Given the description of an element on the screen output the (x, y) to click on. 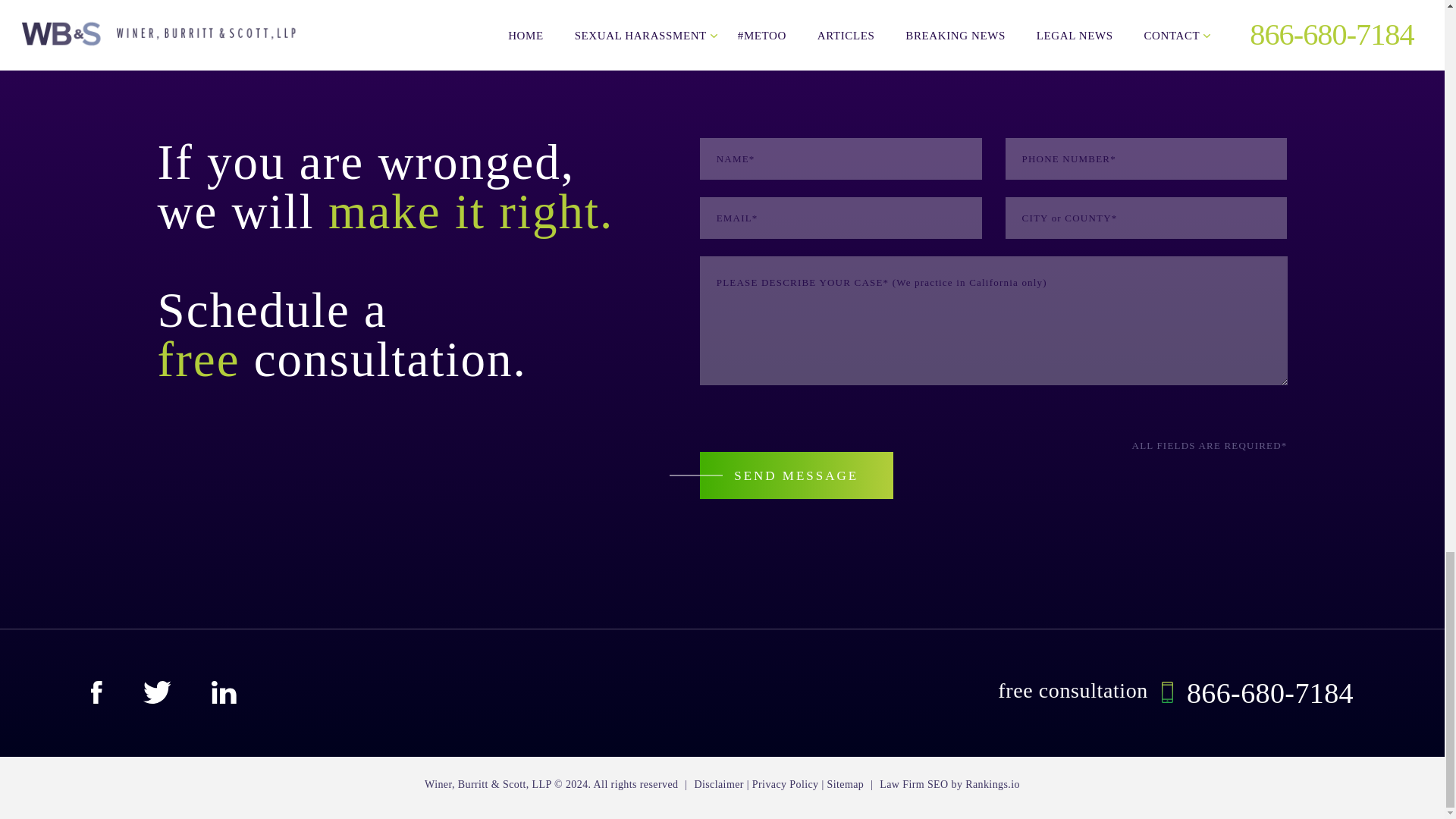
SEND MESSAGE (796, 475)
